Given the description of an element on the screen output the (x, y) to click on. 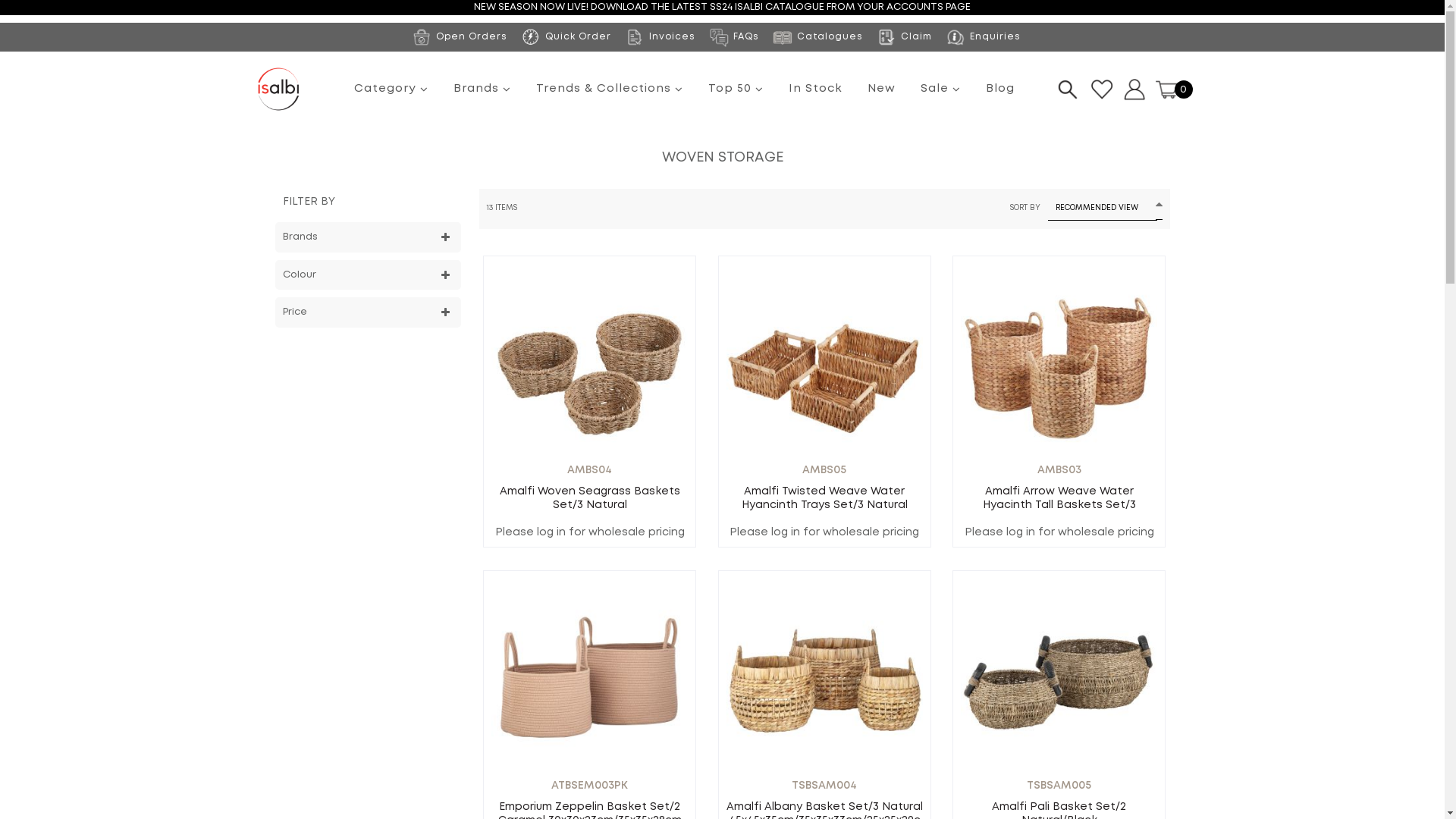
Set Descending Direction Element type: text (1158, 206)
Brands Element type: text (481, 89)
Invoices Element type: text (659, 36)
Open Orders Element type: text (459, 36)
Quick Order Element type: text (565, 36)
Claim Element type: text (903, 36)
New Element type: text (880, 89)
Catalogues Element type: text (816, 36)
Category Element type: text (390, 89)
In Stock Element type: text (814, 89)
Sale Element type: text (939, 89)
Enquiries Element type: text (982, 36)
FAQs Element type: text (733, 36)
Trends & Collections Element type: text (609, 89)
Search Element type: text (1066, 88)
My Cart
0 Element type: text (1173, 88)
Blog Element type: text (999, 89)
Top 50 Element type: text (735, 89)
Dropdown button Element type: text (1133, 88)
